Given the description of an element on the screen output the (x, y) to click on. 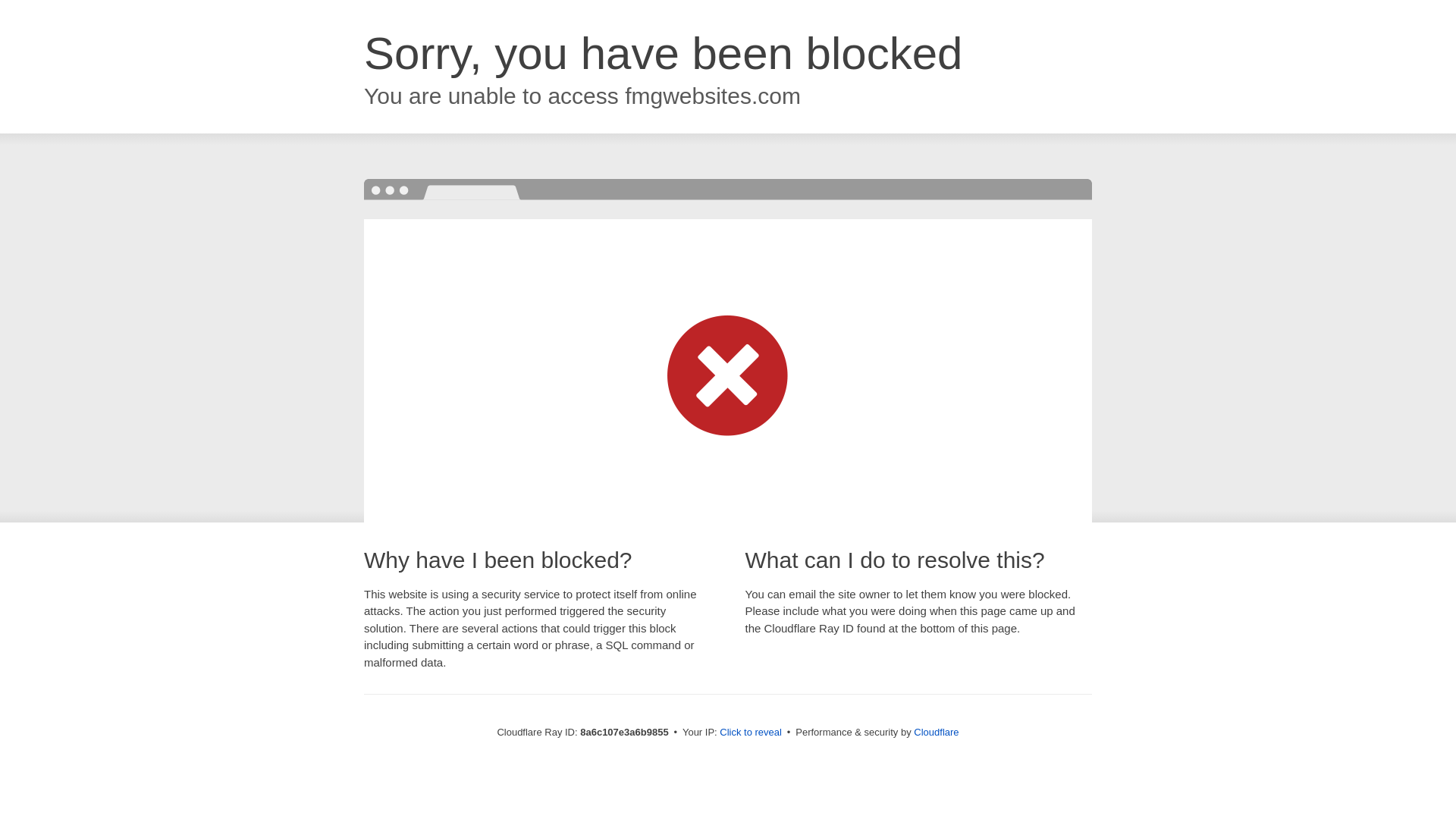
Click to reveal (750, 732)
Cloudflare (936, 731)
